Given the description of an element on the screen output the (x, y) to click on. 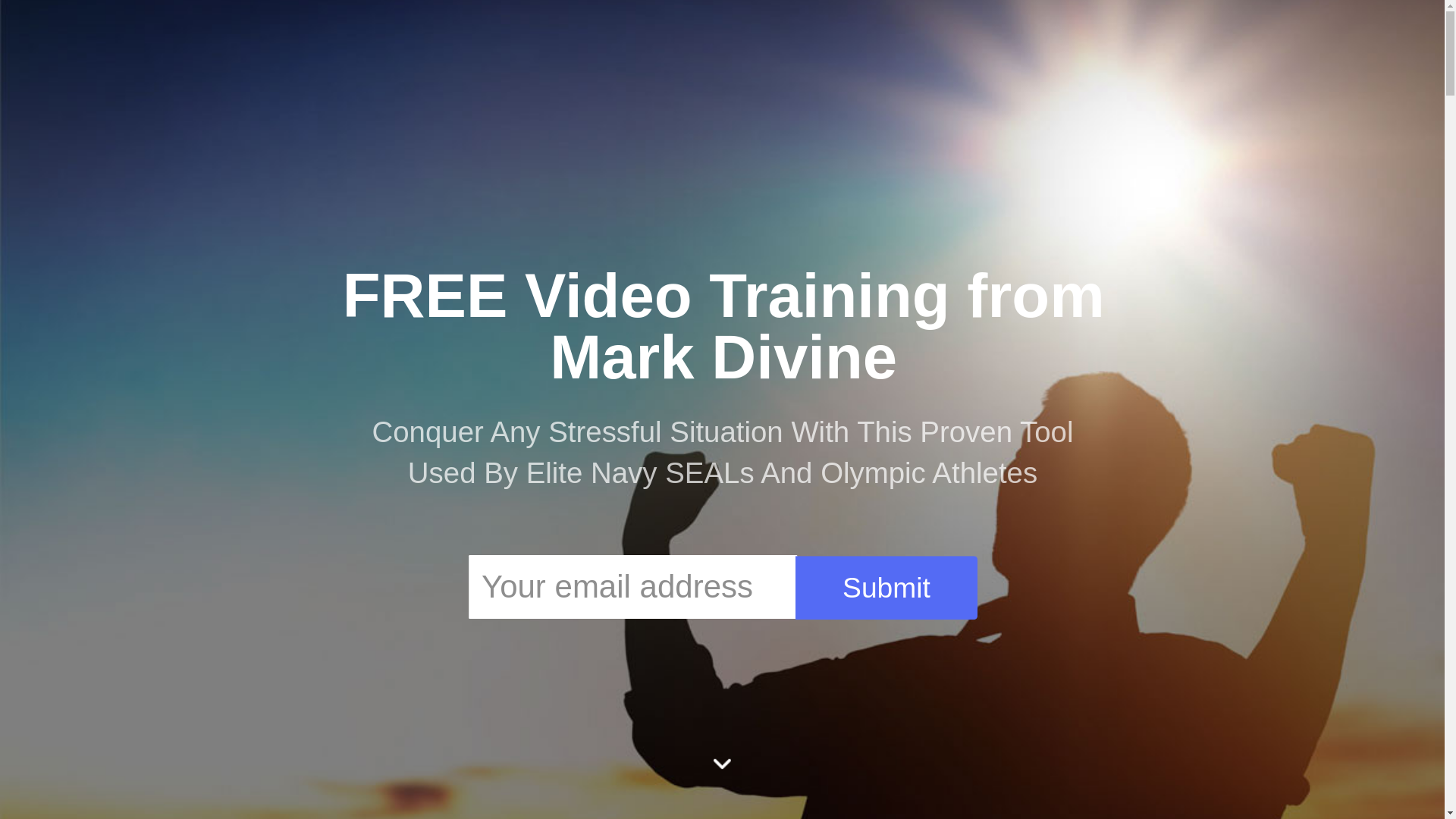
About (756, 76)
Submit (870, 582)
Coaching (766, 76)
Podcast (987, 80)
Experiences (760, 76)
Books (774, 76)
Online (757, 76)
